Given the description of an element on the screen output the (x, y) to click on. 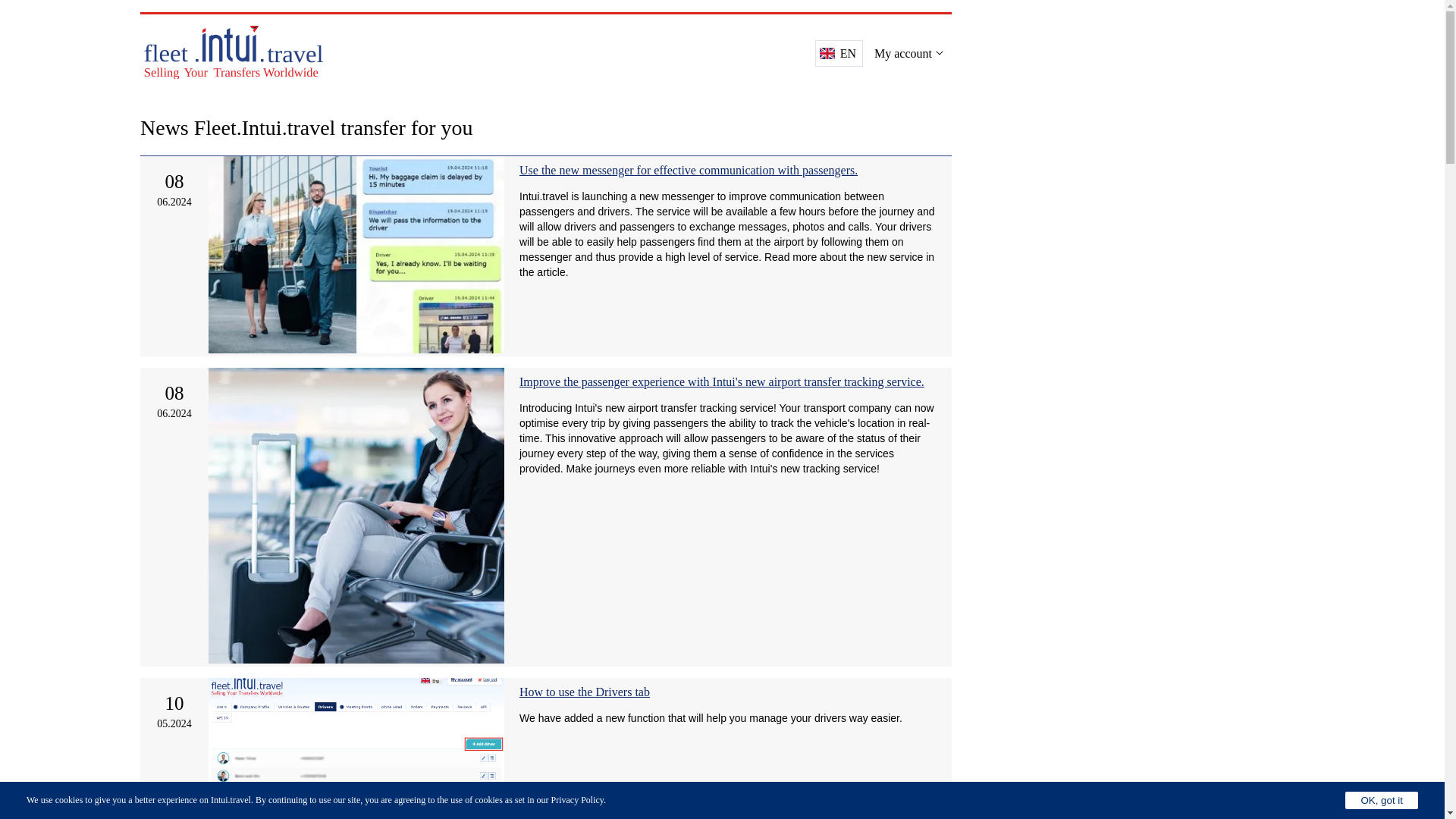
How to use the Drivers tab (584, 691)
How to use the Drivers tab (584, 691)
